Given the description of an element on the screen output the (x, y) to click on. 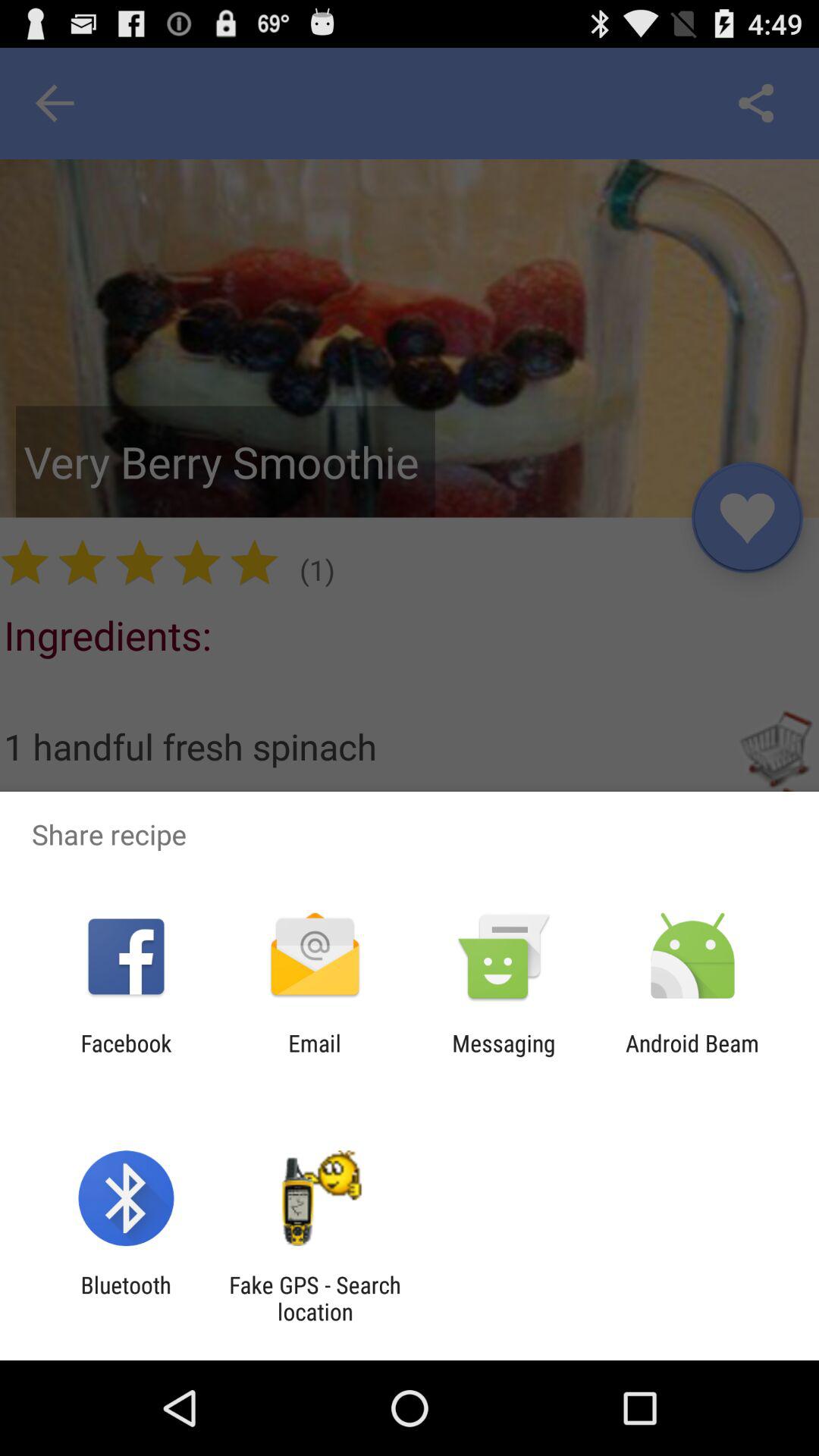
launch item to the left of the android beam item (503, 1056)
